Given the description of an element on the screen output the (x, y) to click on. 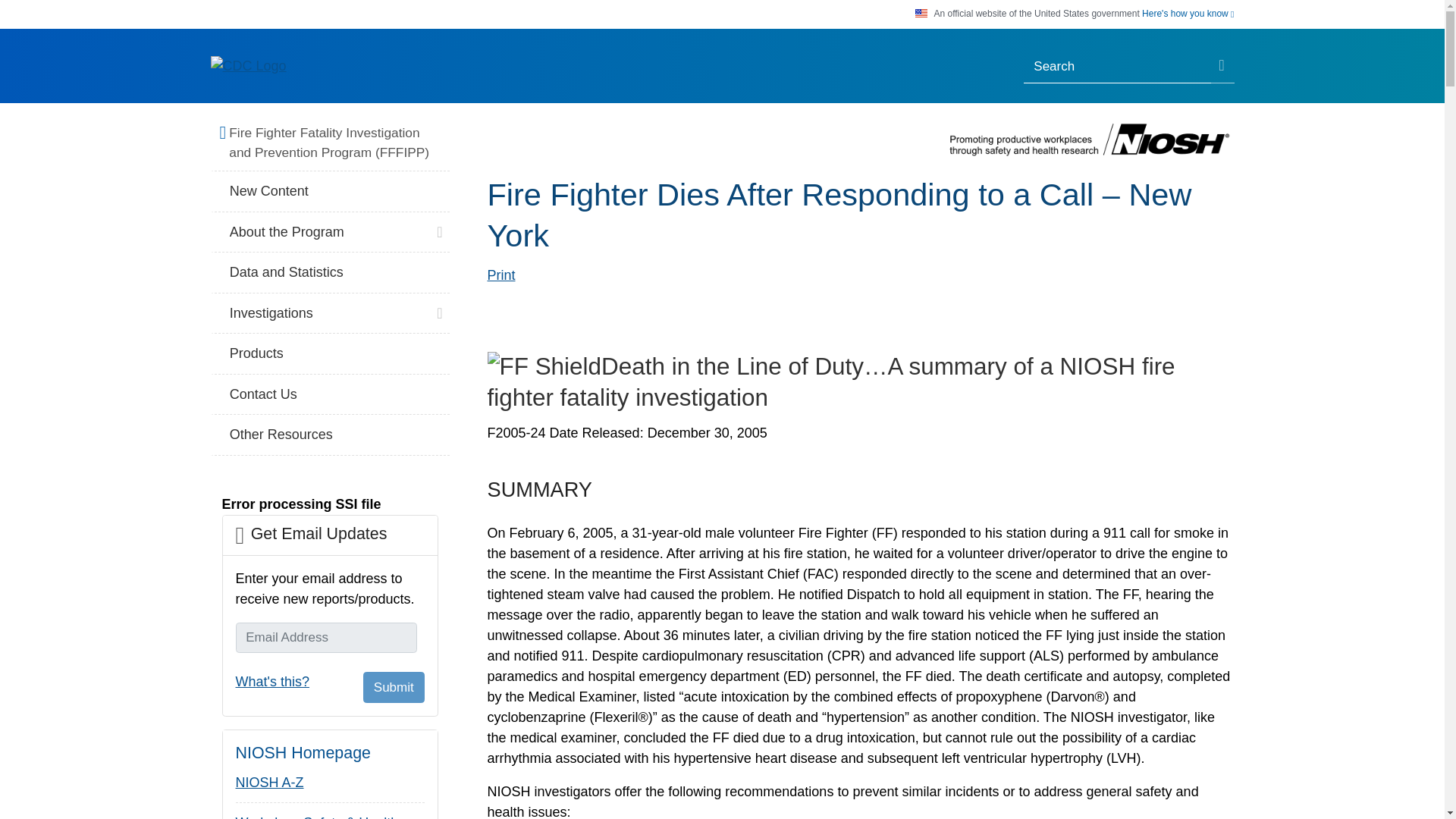
Here's how you know (1187, 14)
Email Address (325, 637)
Print (500, 275)
